Given the description of an element on the screen output the (x, y) to click on. 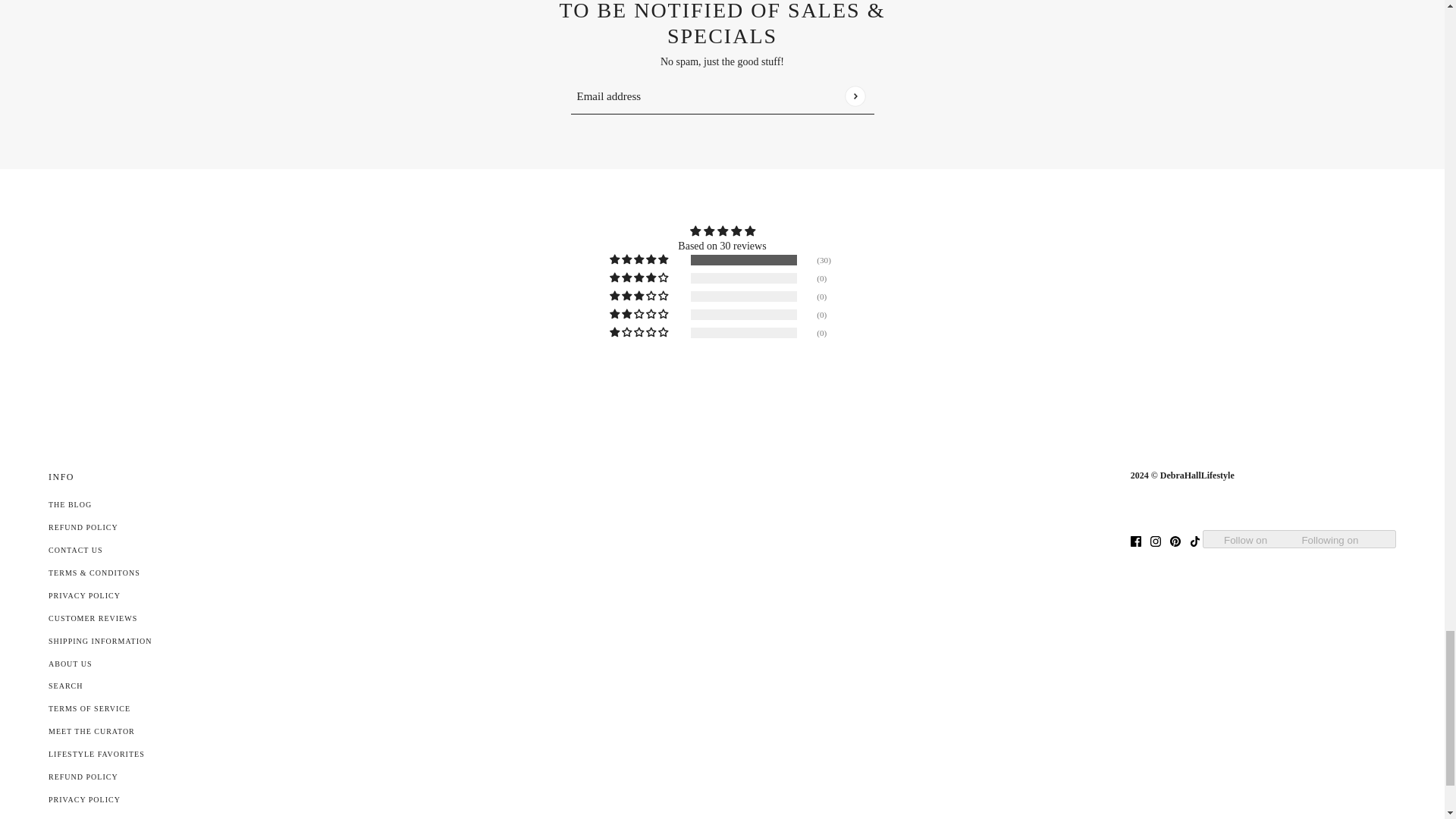
Customer Reviews (92, 618)
Shipping Information (99, 641)
About Us (70, 664)
Privacy Policy (84, 595)
Meet The Curator (91, 731)
The Blog (69, 504)
Lifestyle Favorites (96, 754)
Contact Us (75, 550)
Refund policy (82, 527)
Terms of Service (89, 708)
Privacy policy (84, 799)
Refund policy (82, 777)
